Given the description of an element on the screen output the (x, y) to click on. 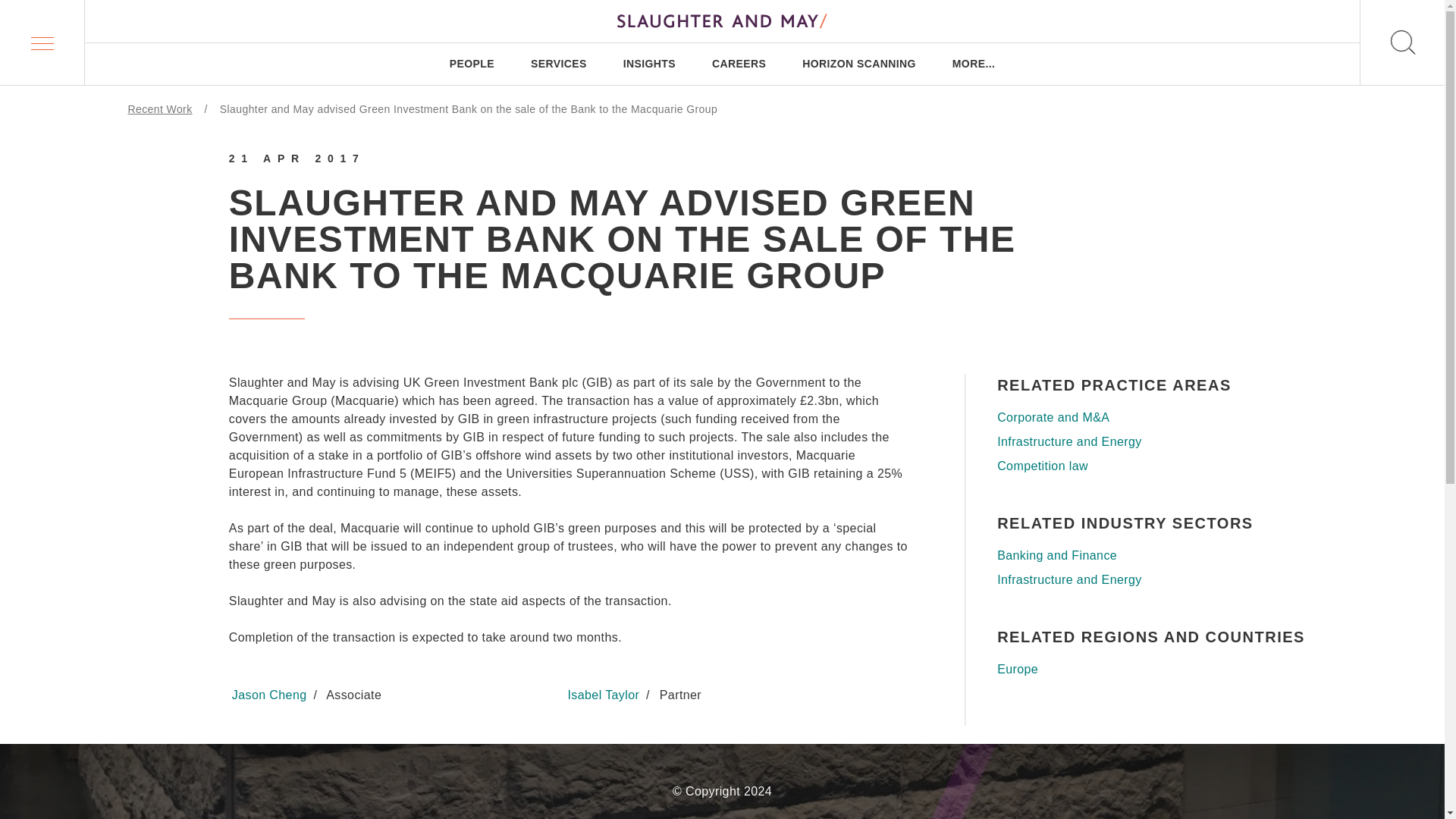
HORIZON SCANNING (858, 64)
Banking and Finance (1156, 556)
Recent Work (160, 109)
Competition law (1156, 466)
Legal and Regulatory (649, 725)
Infrastructure and Energy (1156, 442)
PEOPLE (472, 64)
SERVICES (558, 64)
Europe (1156, 669)
CAREERS (738, 64)
Beijing (759, 570)
Infrastructure and Energy (1156, 579)
Contact us (290, 725)
Cookies (548, 725)
People (217, 367)
